Given the description of an element on the screen output the (x, y) to click on. 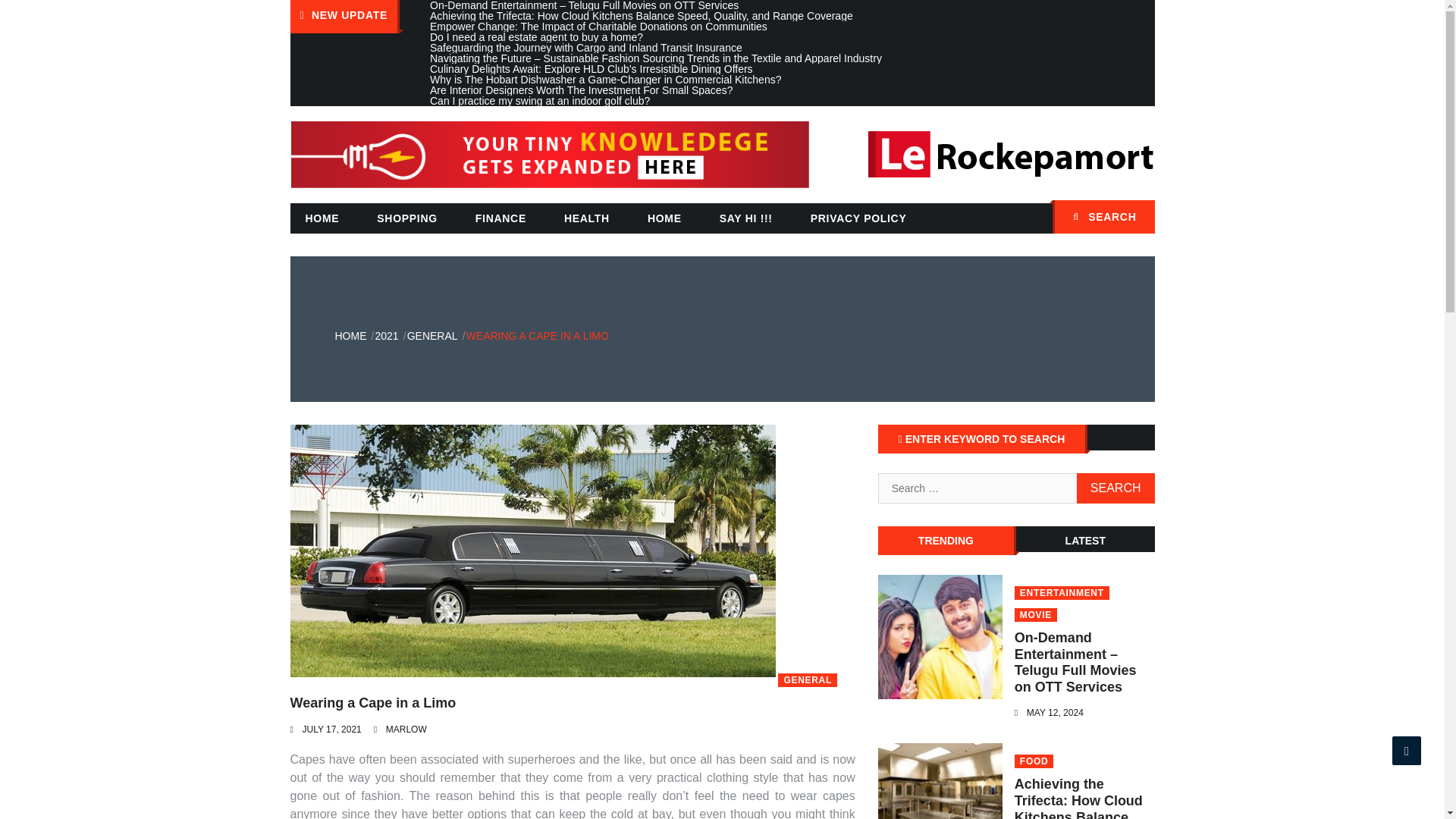
2021 (385, 336)
MOVIE (1035, 614)
MAY 12, 2024 (1054, 712)
Search (1115, 488)
ENTERTAINMENT (1061, 592)
HOME (664, 218)
MARLOW (405, 728)
GENERAL (432, 336)
Search (1115, 488)
SHOPPING (406, 218)
